Given the description of an element on the screen output the (x, y) to click on. 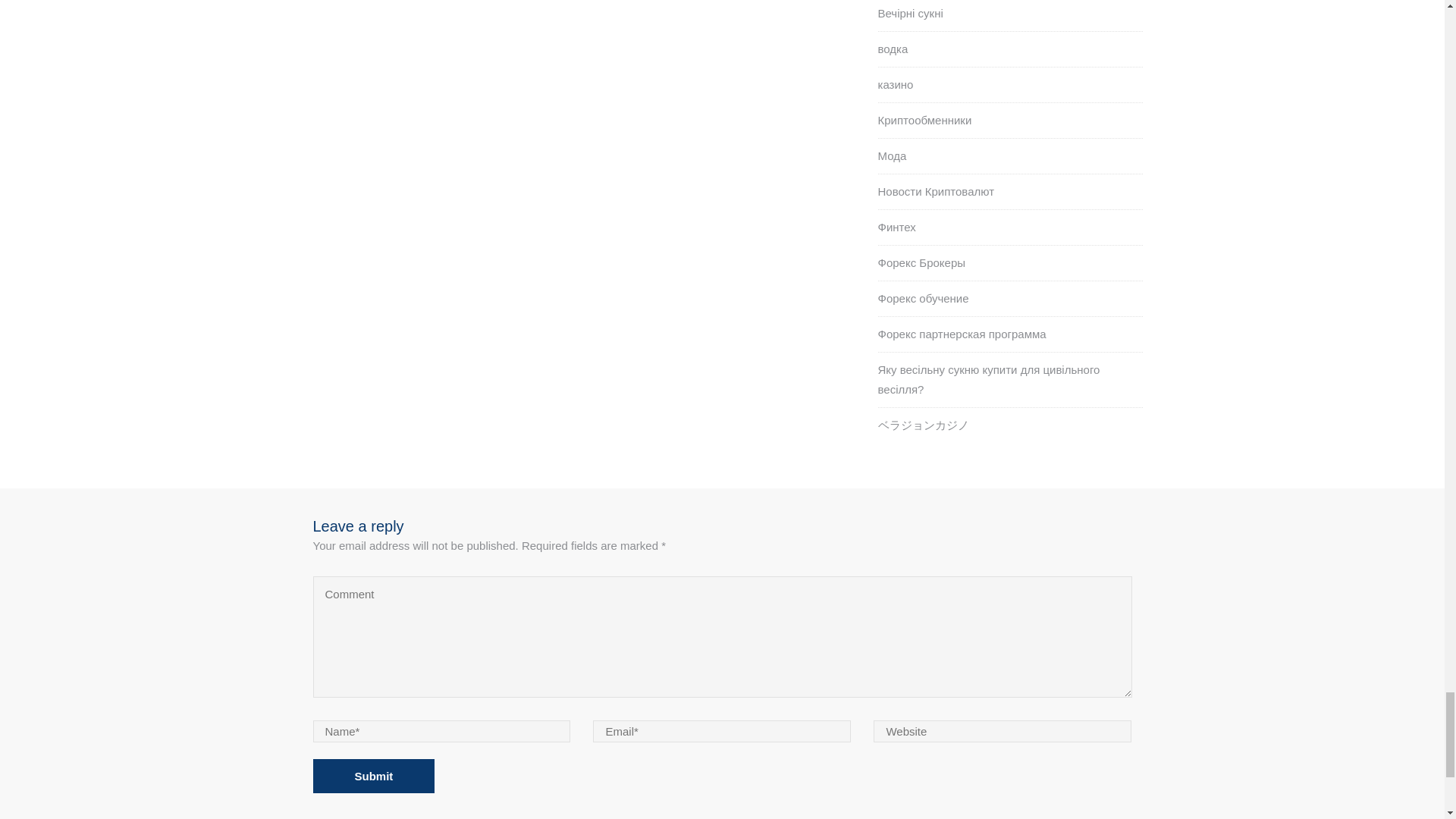
Submit (373, 776)
